Given the description of an element on the screen output the (x, y) to click on. 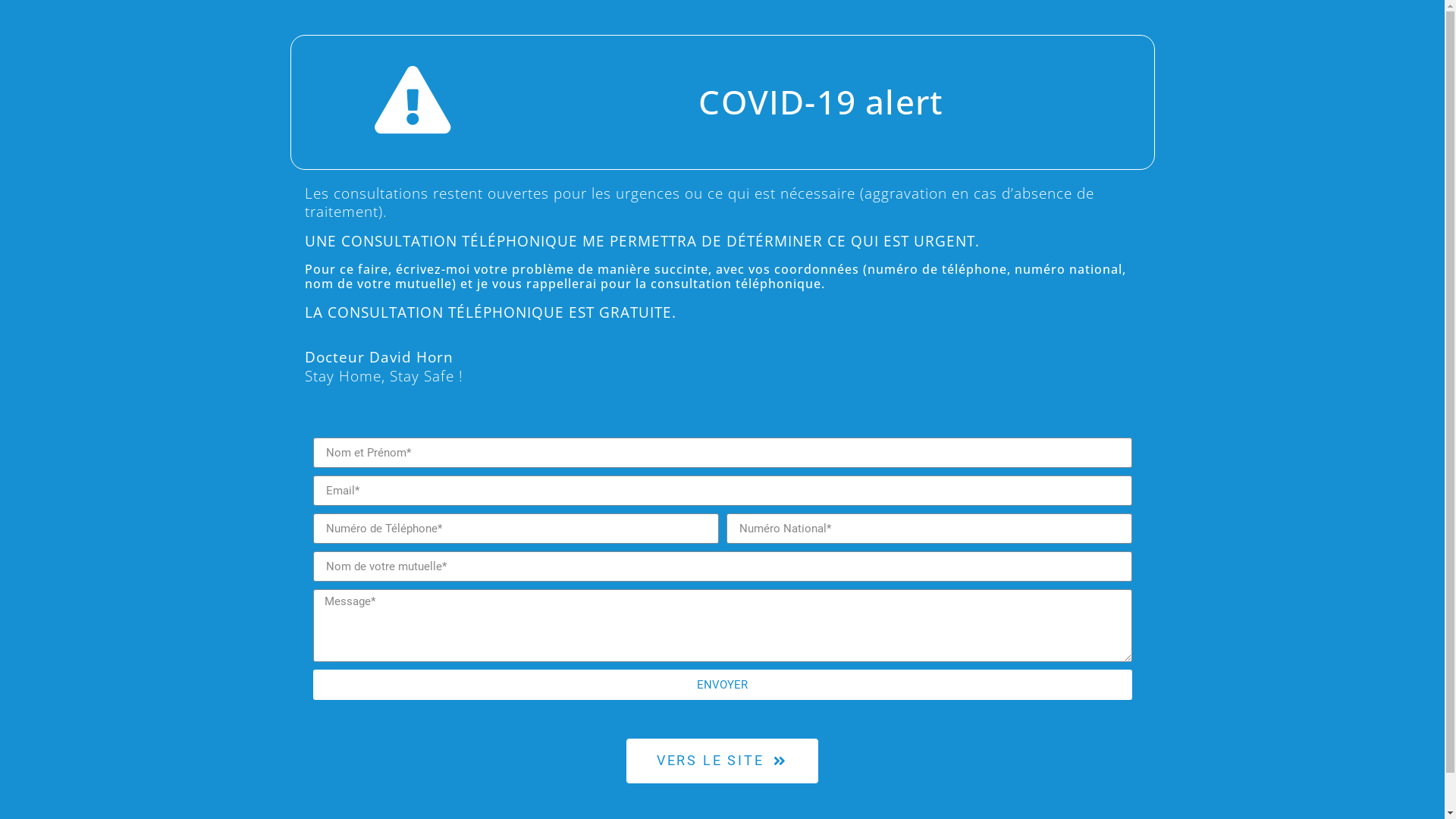
ENVOYER Element type: text (721, 684)
VERS LE SITE Element type: text (722, 760)
